Given the description of an element on the screen output the (x, y) to click on. 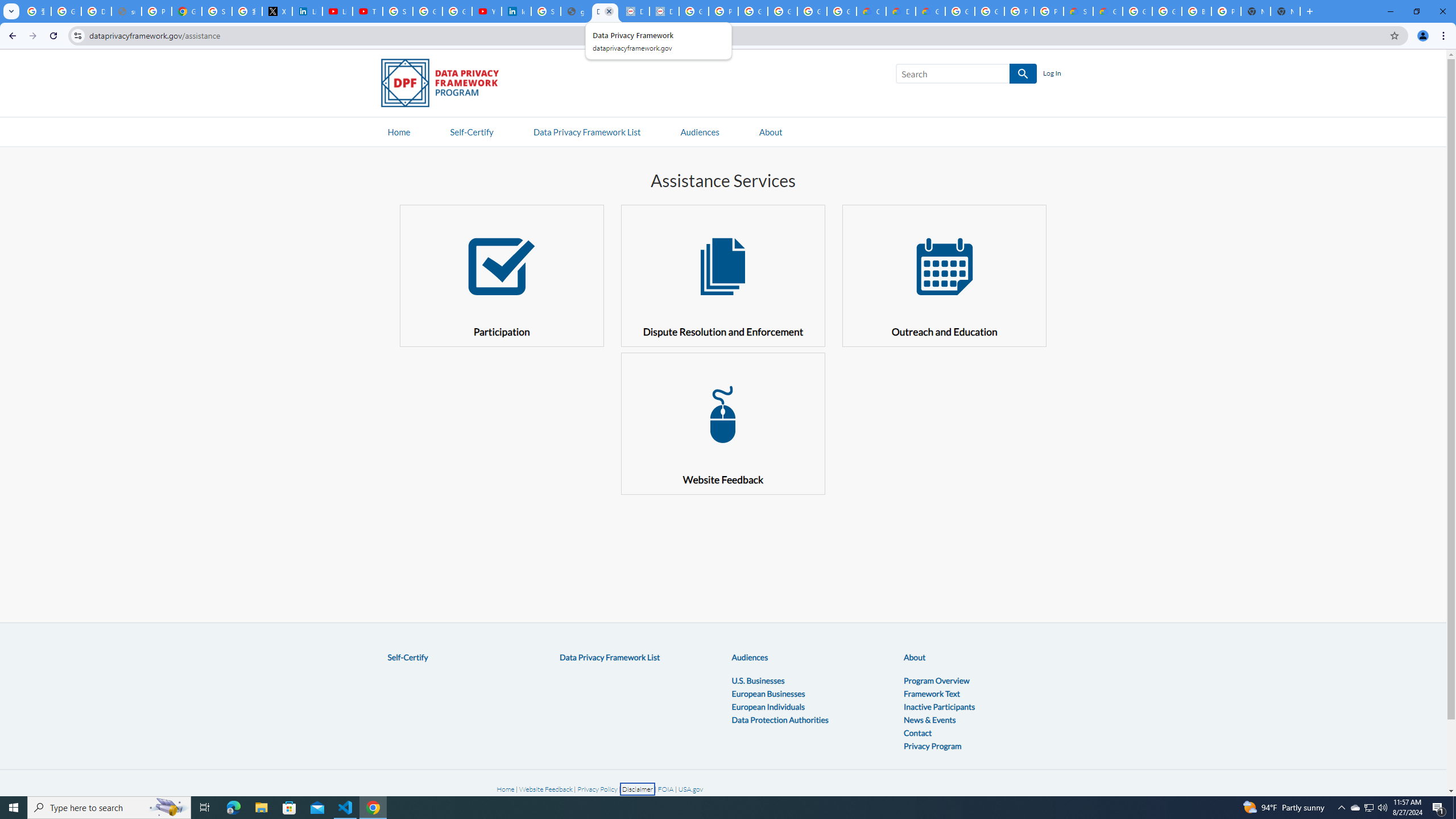
AutomationID: navitem (699, 131)
Privacy Help Center - Policies Help (156, 11)
News & Events (930, 719)
Contact (917, 732)
Google Cloud Service Health (1107, 11)
Data Protection Authorities (779, 719)
Gemini for Business and Developers | Google Cloud (930, 11)
FOIA  (666, 788)
